Given the description of an element on the screen output the (x, y) to click on. 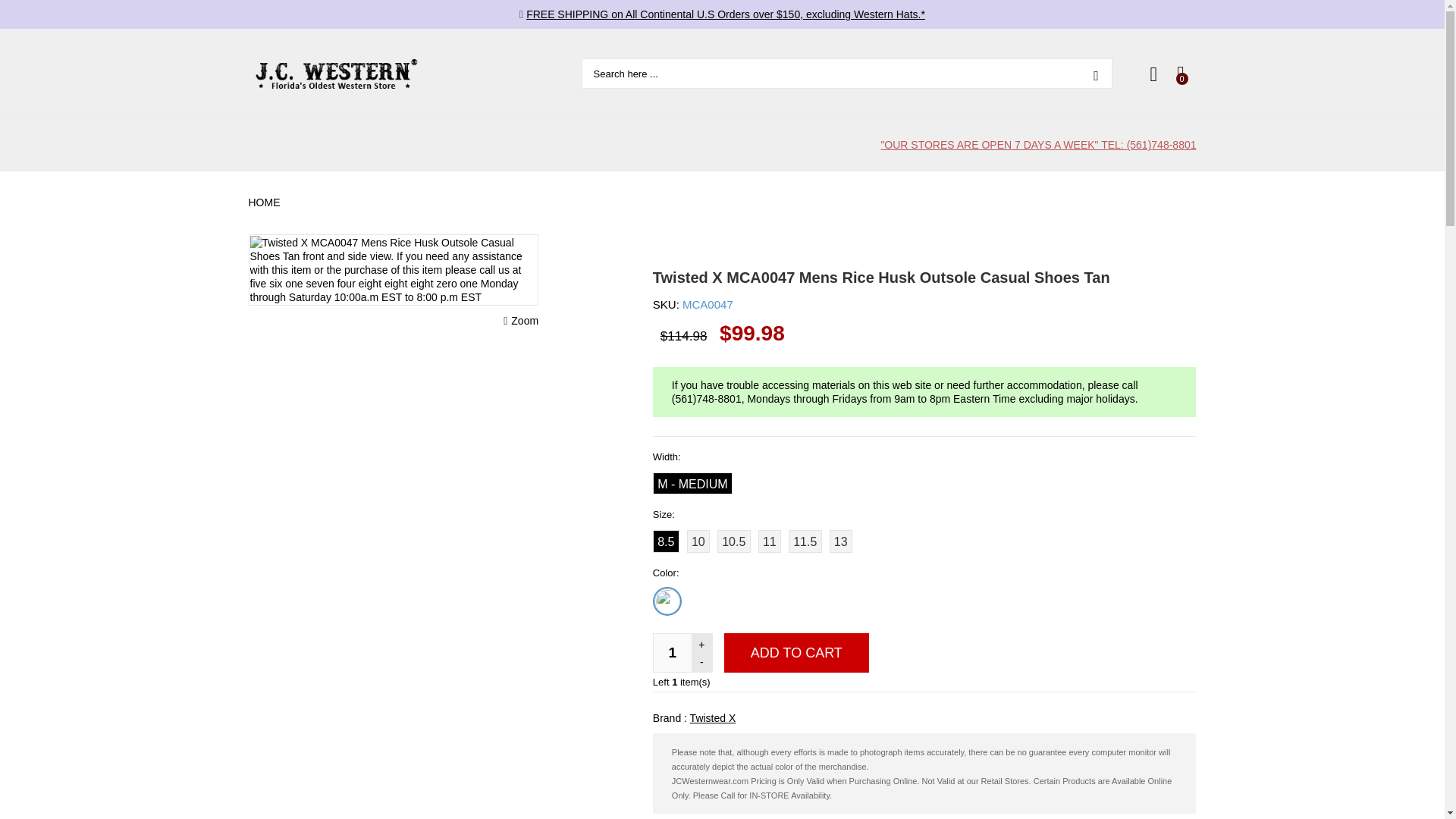
Add to Cart (796, 652)
10 (698, 540)
11 (769, 540)
Submit form (1096, 73)
M - MEDIUM (692, 483)
- (701, 661)
Zoom (520, 320)
Tan (666, 601)
10.5 (734, 540)
HOME (265, 202)
Home (265, 202)
1 (672, 652)
8.5 (665, 540)
